Given the description of an element on the screen output the (x, y) to click on. 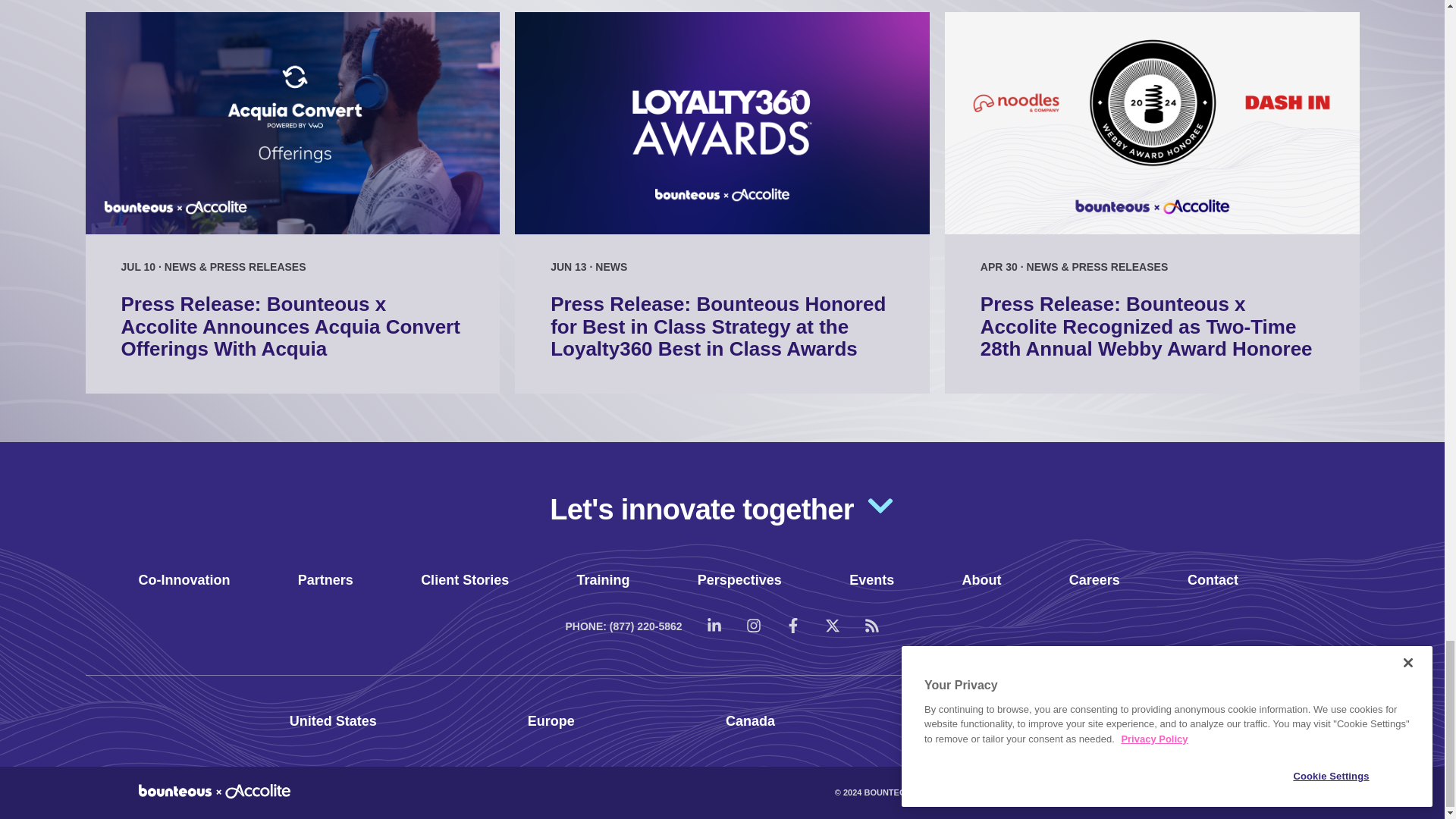
Let's innovate together (721, 506)
